Given the description of an element on the screen output the (x, y) to click on. 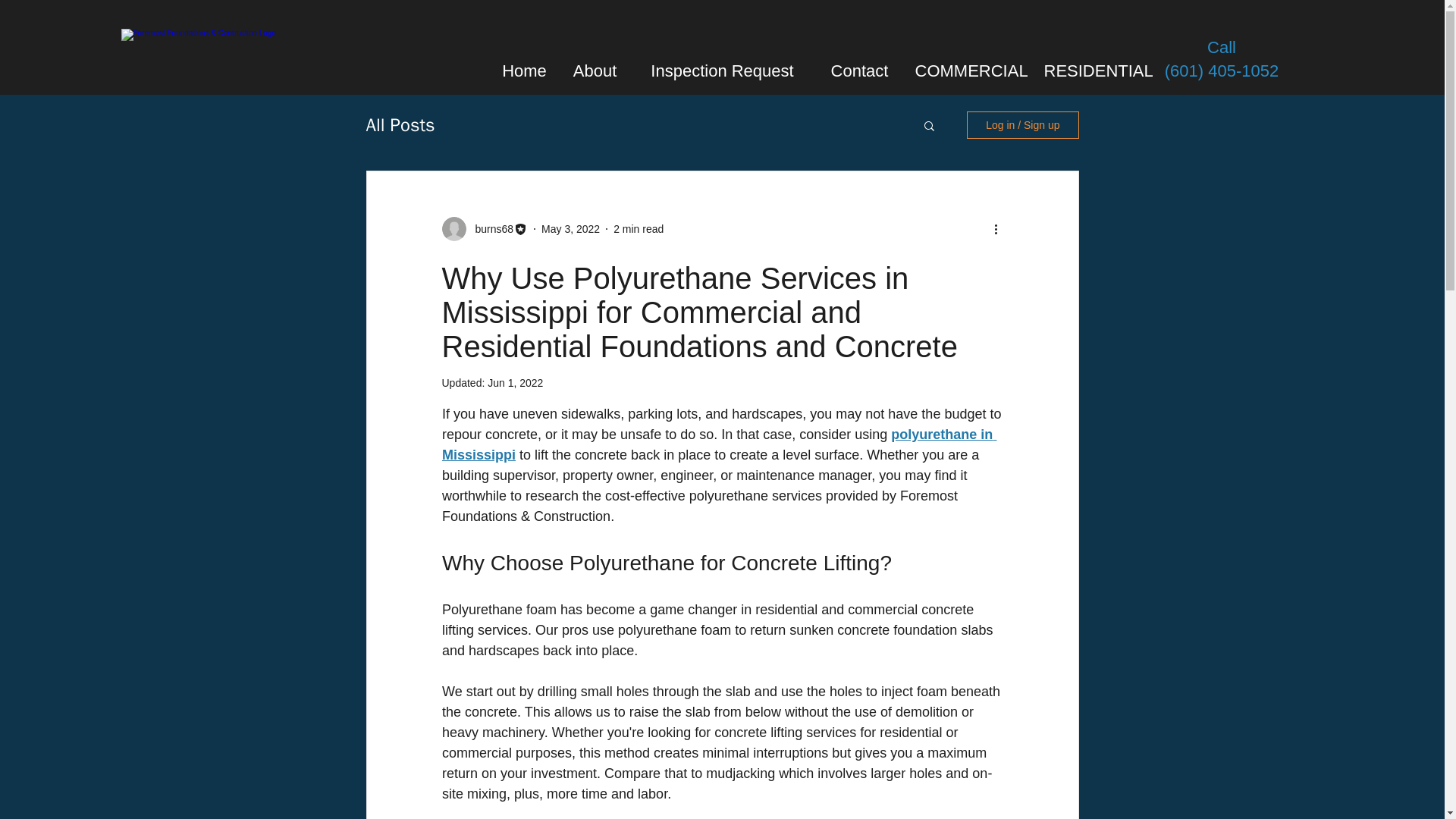
All Posts (399, 125)
Inspection Request (721, 63)
burns68 (489, 229)
RESIDENTIAL (1093, 63)
Home (524, 63)
COMMERCIAL (969, 63)
Contact (859, 63)
Jun 1, 2022 (515, 382)
2 min read (637, 228)
May 3, 2022 (570, 228)
polyurethane in Mississippi (718, 444)
About (594, 63)
